Given the description of an element on the screen output the (x, y) to click on. 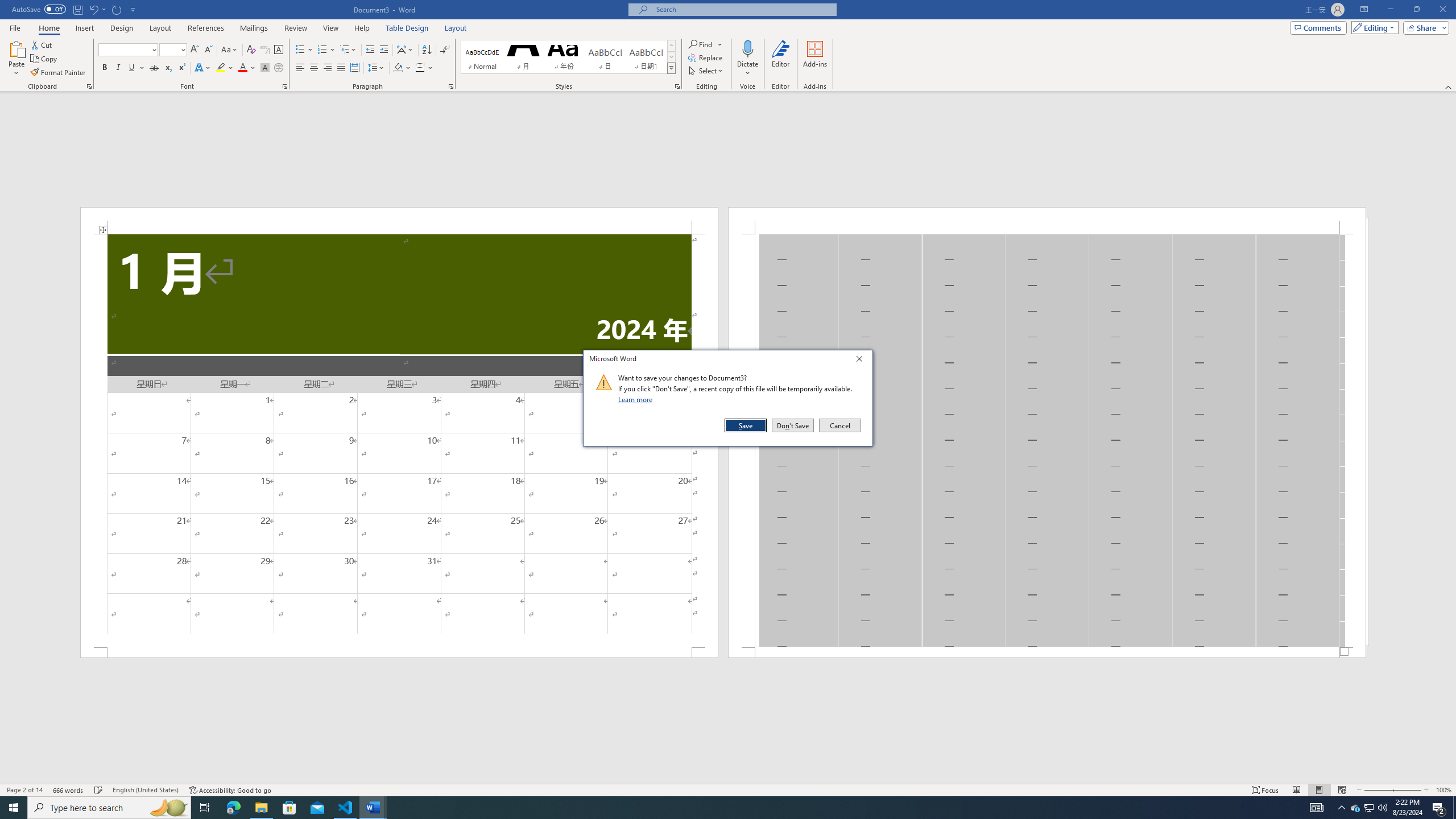
Word - 2 running windows (373, 807)
Undo Apply Quick Style (96, 9)
